Given the description of an element on the screen output the (x, y) to click on. 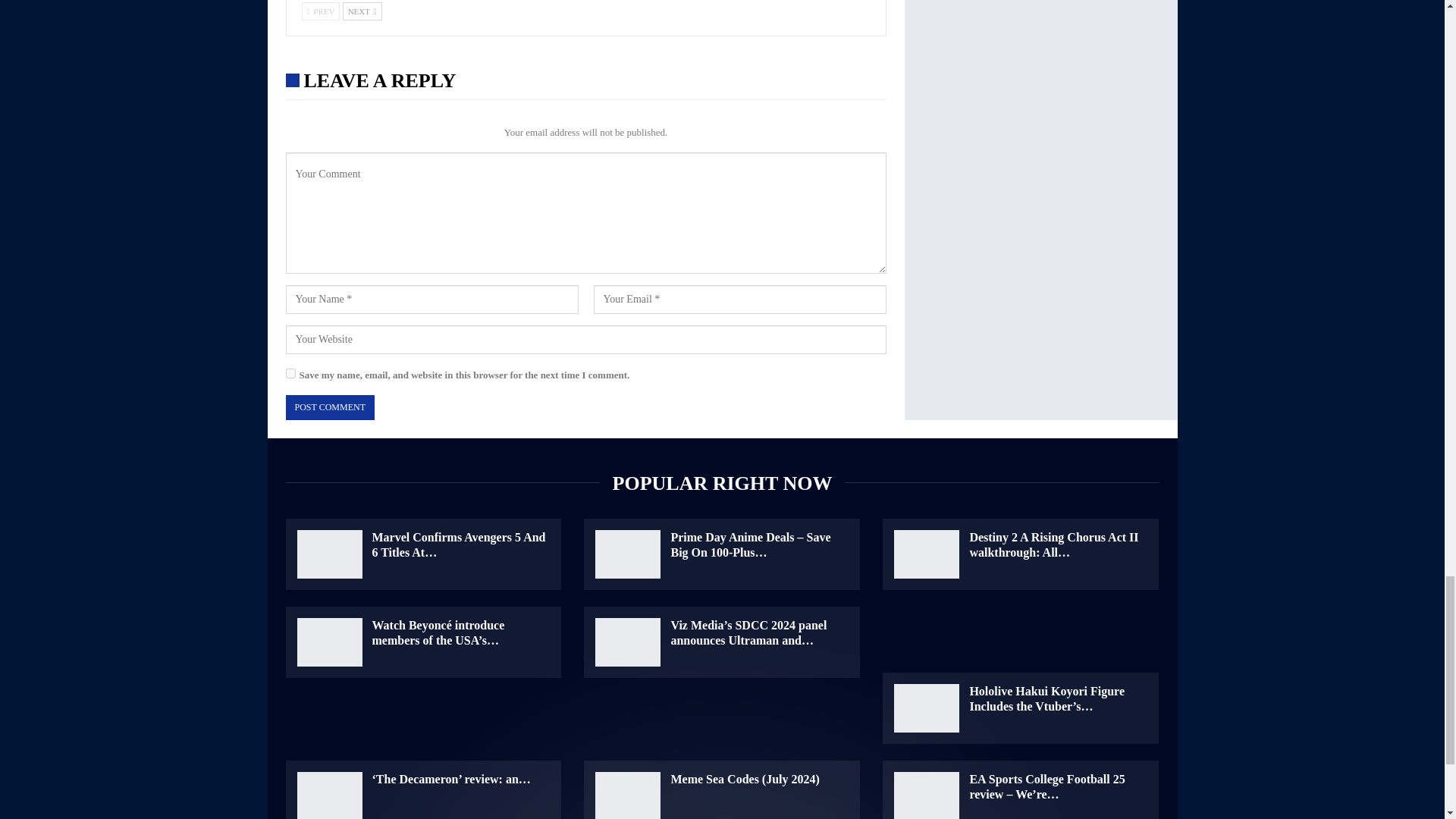
Post Comment (329, 407)
yes (290, 373)
